Given the description of an element on the screen output the (x, y) to click on. 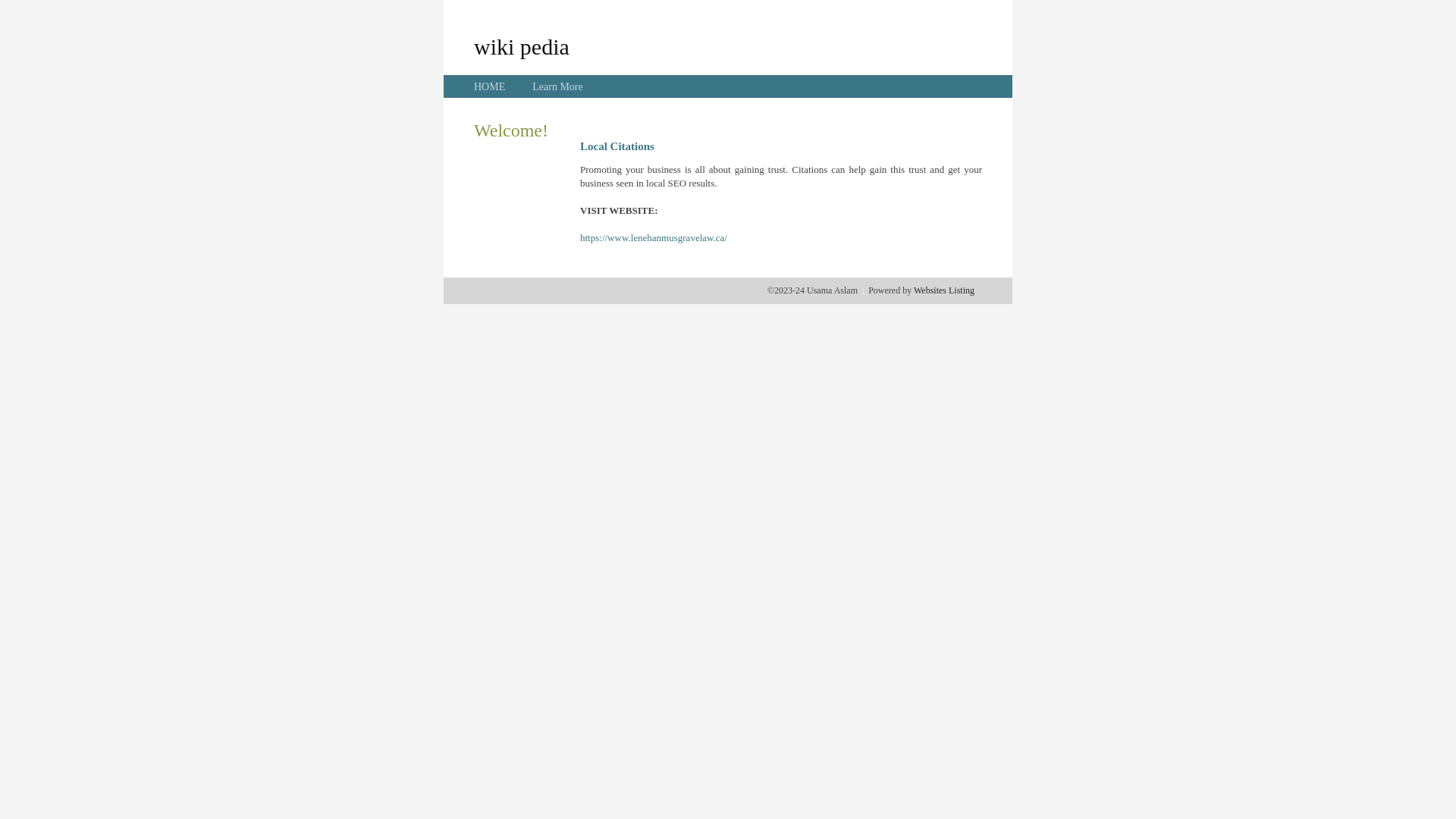
wiki pedia Element type: text (521, 46)
Learn More Element type: text (557, 86)
Websites Listing Element type: text (943, 290)
HOME Element type: text (489, 86)
https://www.lenehanmusgravelaw.ca/ Element type: text (653, 237)
